Given the description of an element on the screen output the (x, y) to click on. 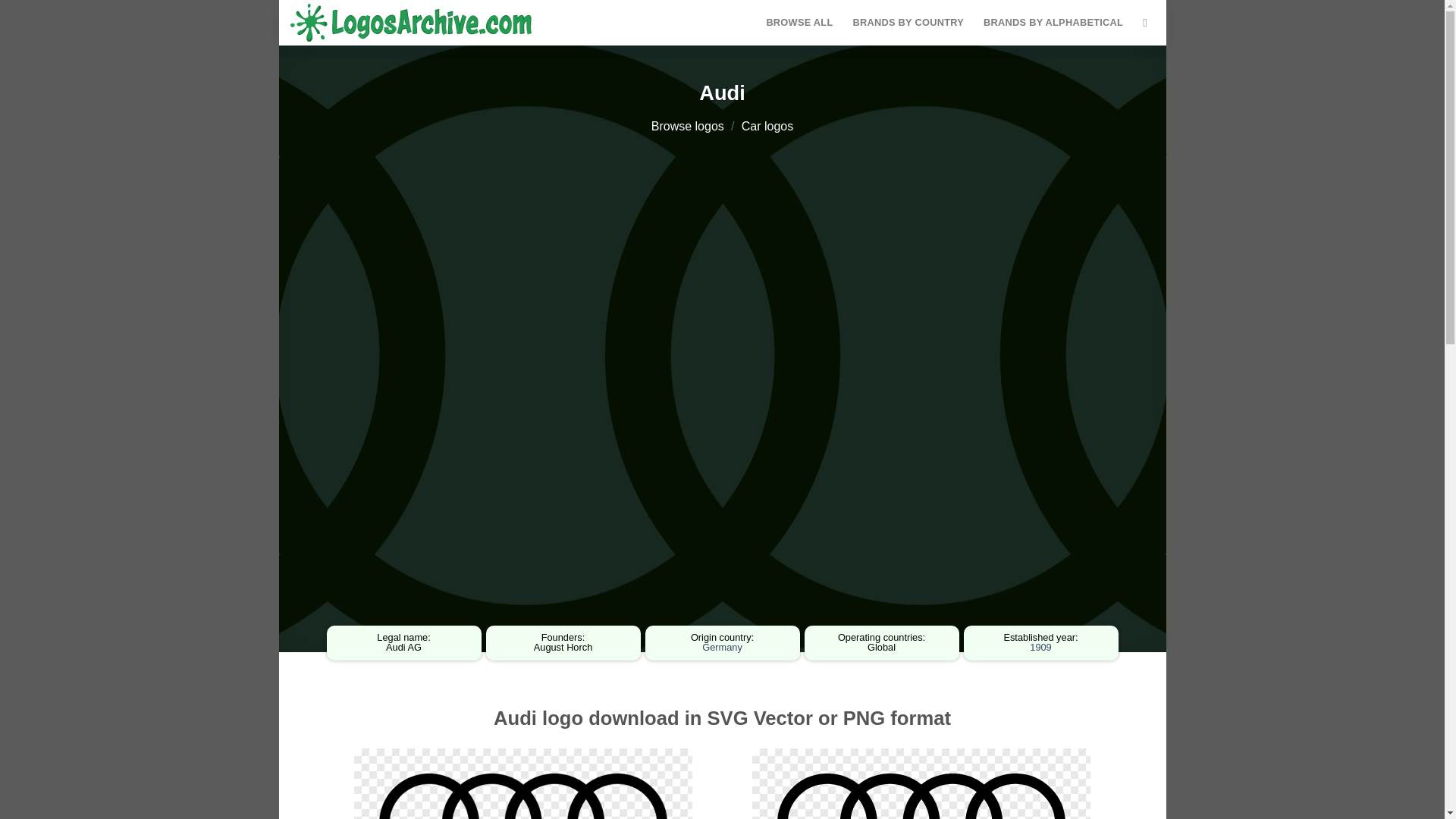
Germany (721, 646)
Brands from Germany (721, 646)
Browse logos (686, 125)
BROWSE ALL (798, 22)
Car logos (767, 125)
